Given the description of an element on the screen output the (x, y) to click on. 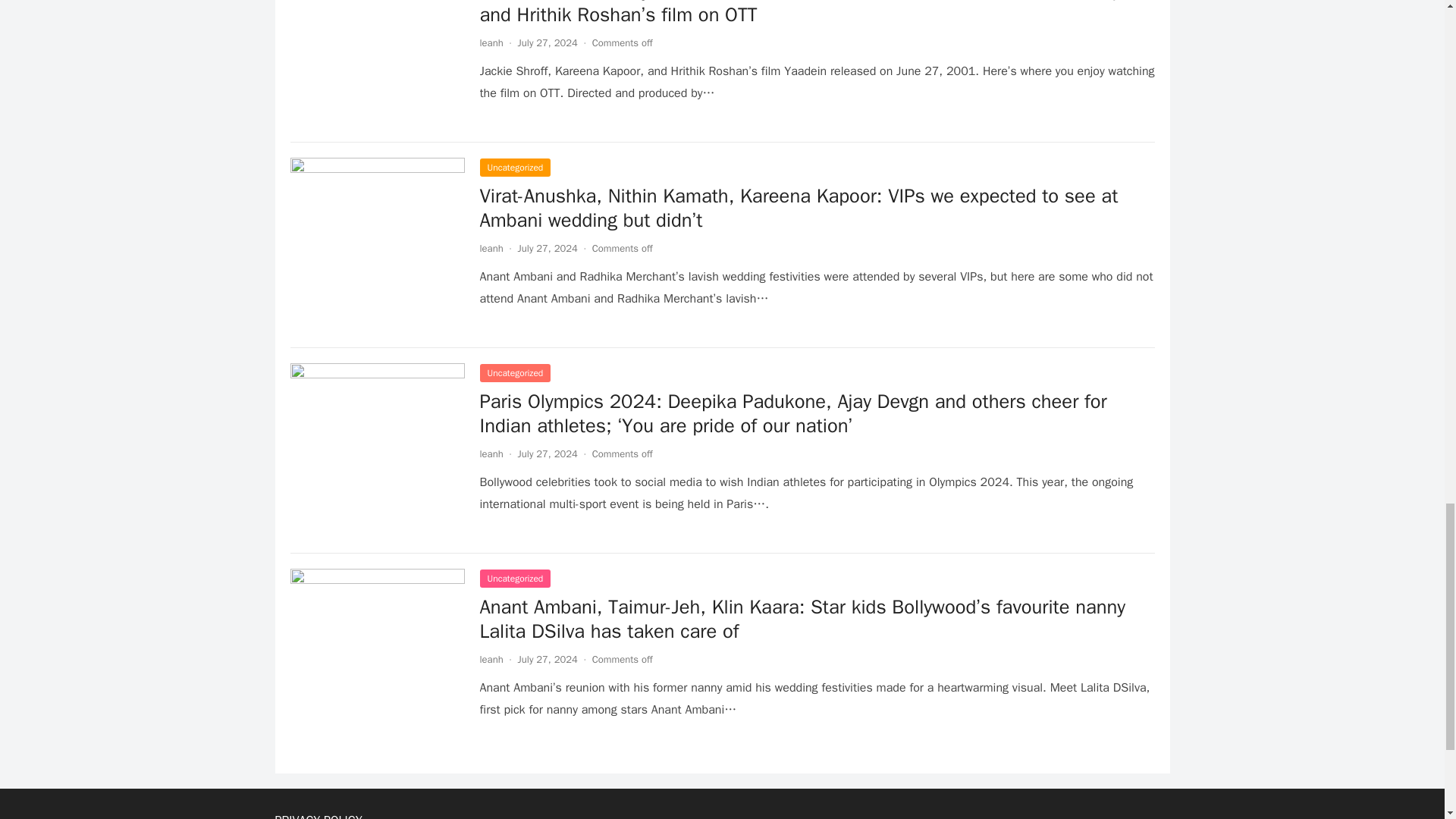
Posts by leanh (490, 453)
Posts by leanh (490, 658)
Posts by leanh (490, 42)
Posts by leanh (490, 247)
